Given the description of an element on the screen output the (x, y) to click on. 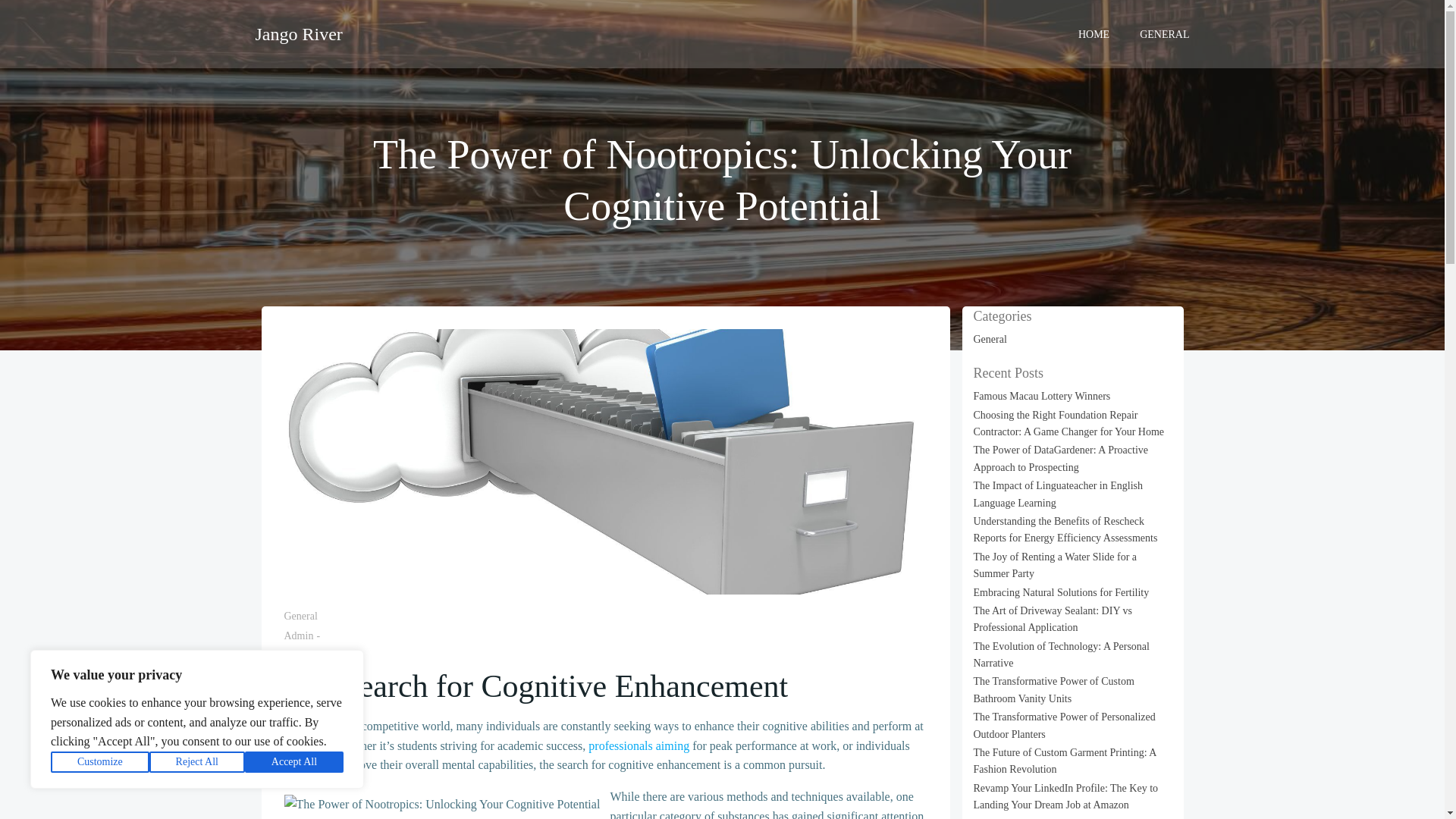
Customize (99, 762)
HOME (1093, 33)
Admin (298, 635)
Reject All (196, 762)
Famous Macau Lottery Winners (1042, 396)
General (300, 616)
General (990, 338)
GENERAL (1164, 33)
professionals aiming (638, 745)
Jango River (298, 33)
Accept All (293, 762)
